Given the description of an element on the screen output the (x, y) to click on. 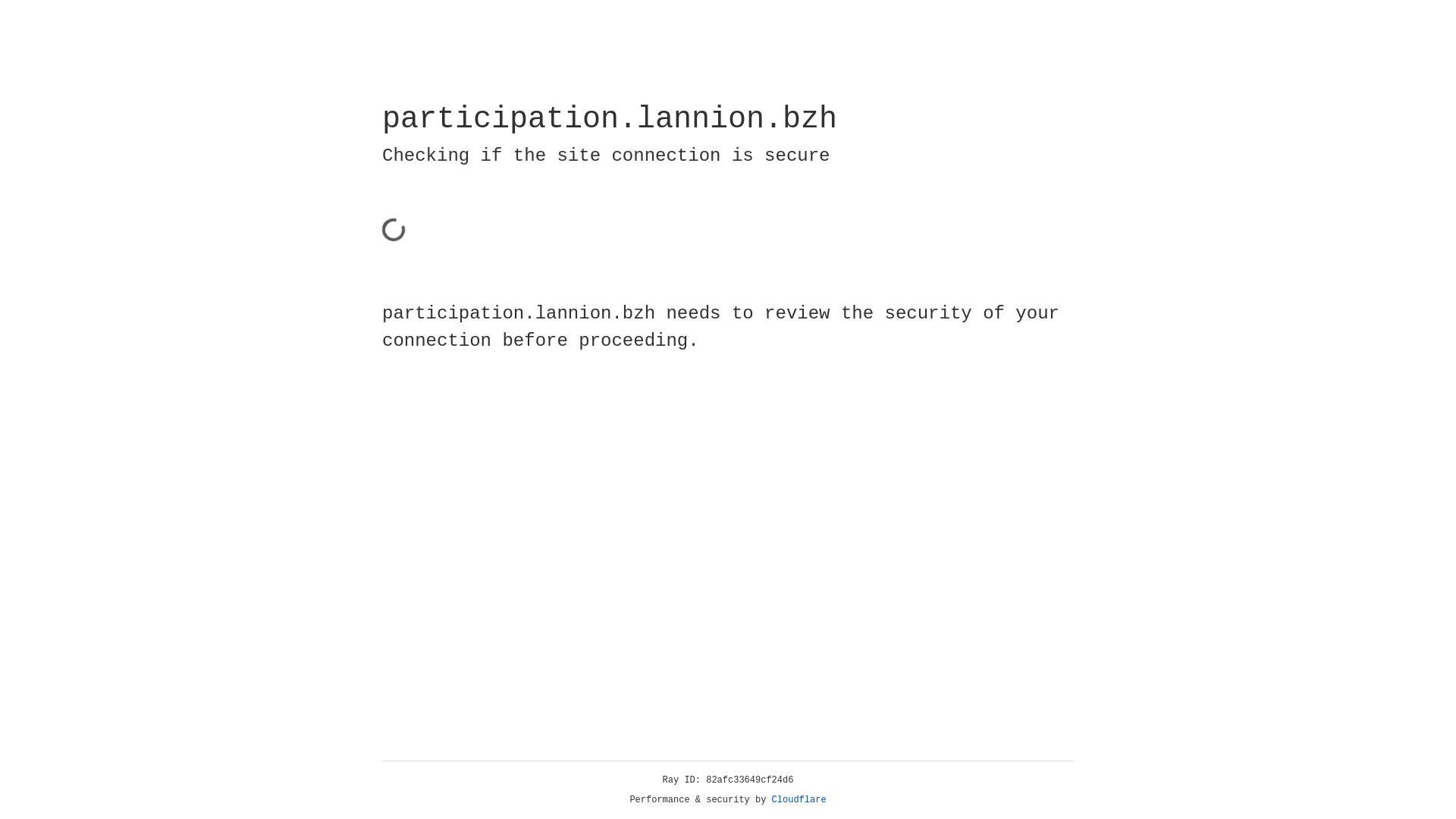
Cloudflare Element type: text (798, 799)
